Given the description of an element on the screen output the (x, y) to click on. 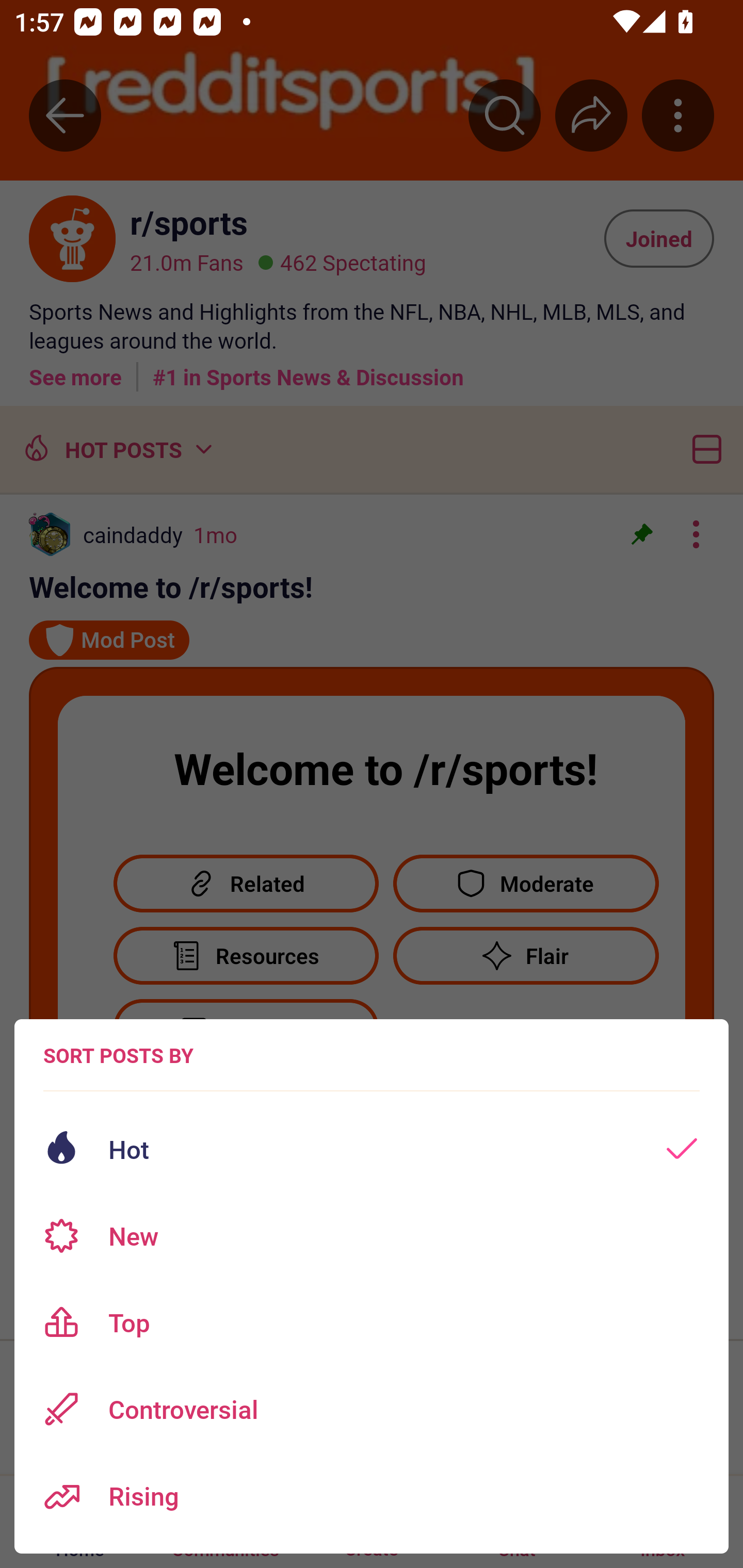
SORT POSTS BY Sort posts options (118, 1055)
Hot (371, 1149)
New (371, 1236)
Top (371, 1322)
Controversial (371, 1408)
Rising (371, 1495)
